Given the description of an element on the screen output the (x, y) to click on. 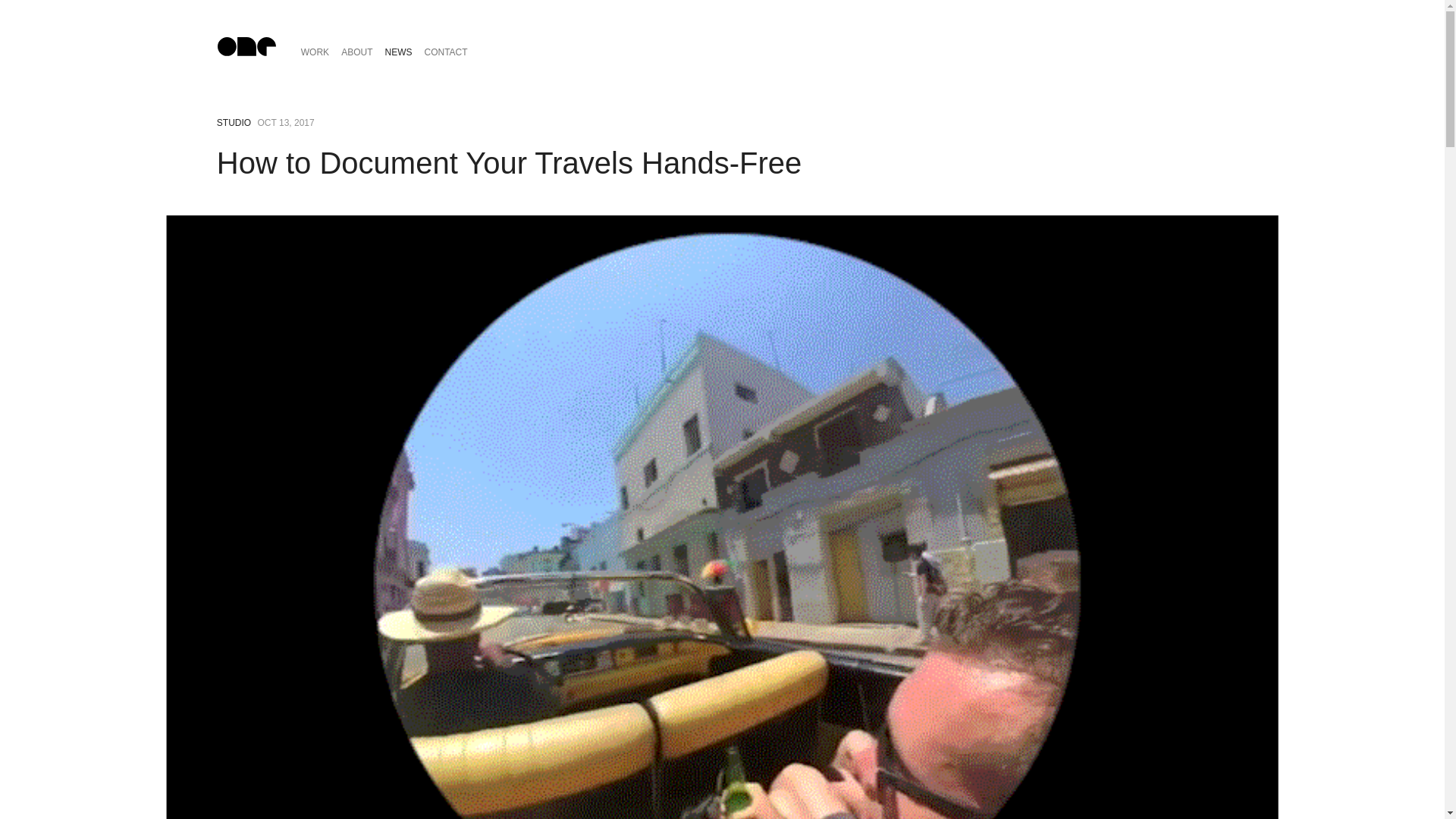
NEWS (397, 52)
WORK (314, 52)
STUDIO (233, 122)
CONTACT (445, 52)
ABOUT (356, 52)
